Given the description of an element on the screen output the (x, y) to click on. 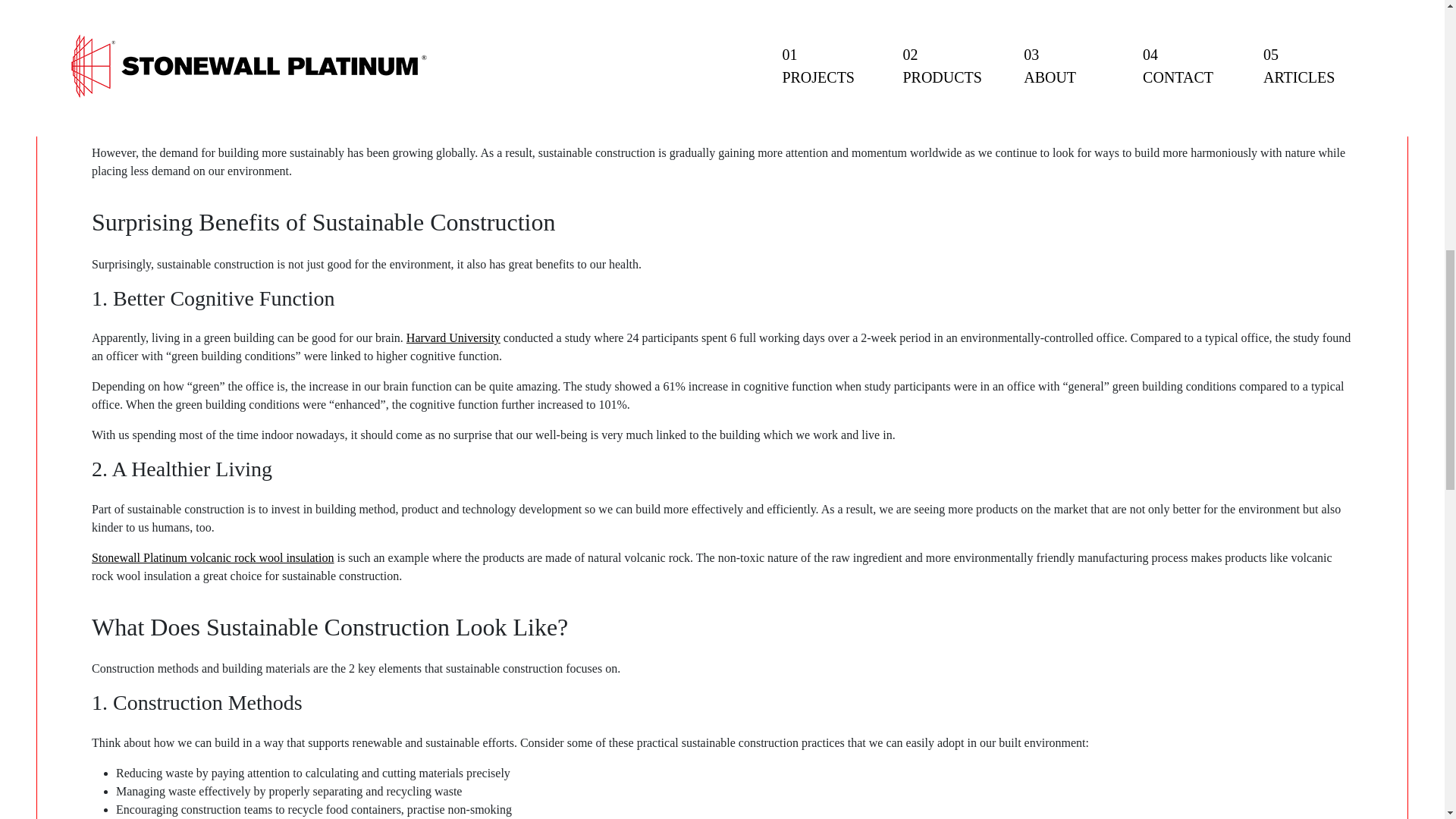
minimum building codes (897, 106)
Harvard University (453, 337)
Stonewall Platinum volcanic rock wool insulation (212, 557)
Professor Charles J. Kibert (983, 40)
